Given the description of an element on the screen output the (x, y) to click on. 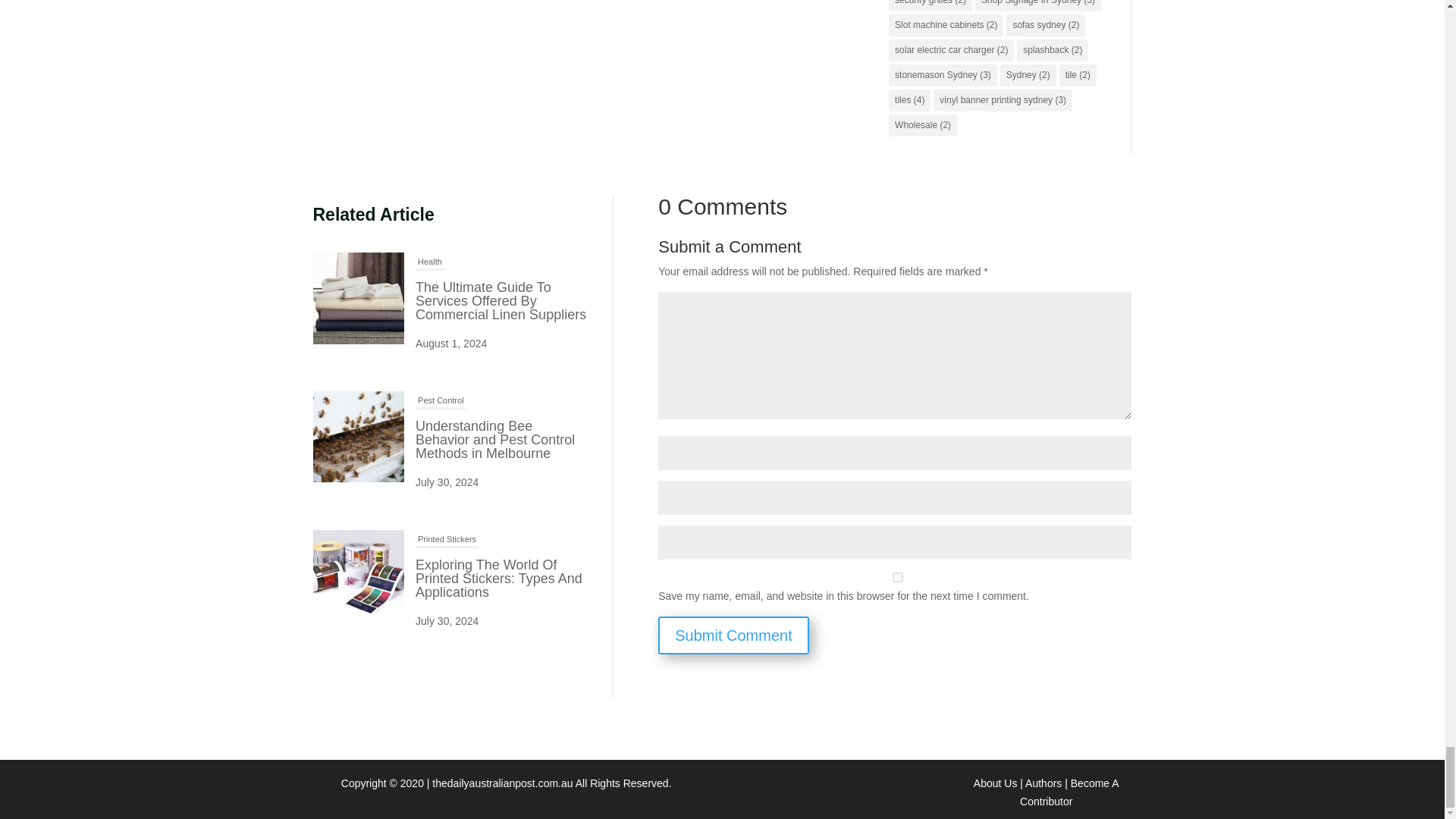
yes (897, 577)
